Given the description of an element on the screen output the (x, y) to click on. 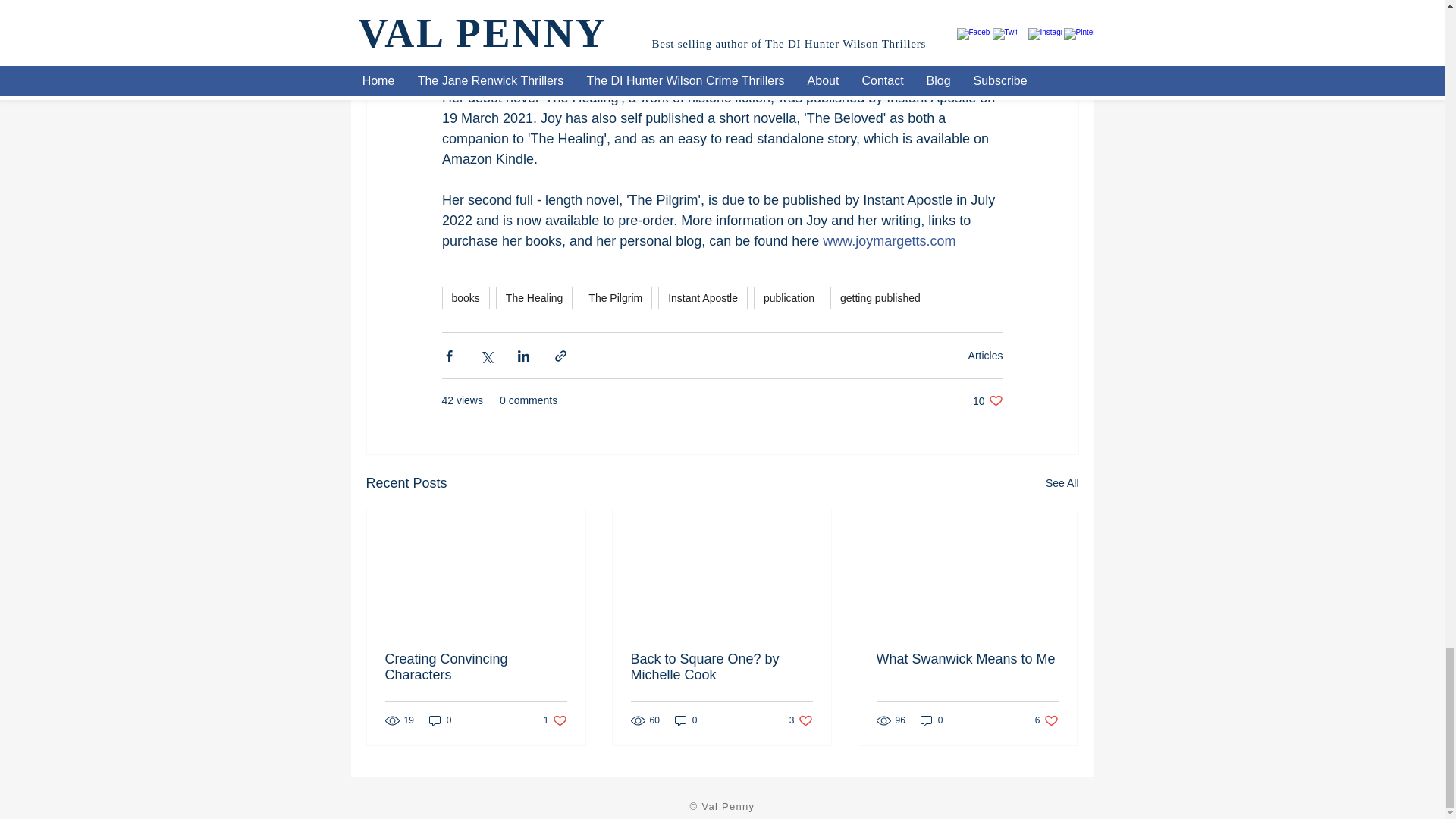
publication (789, 297)
www.joymargetts.com (888, 240)
books (465, 297)
Instant Apostle (703, 297)
The Healing (534, 297)
getting published (879, 297)
The Pilgrim (615, 297)
